Given the description of an element on the screen output the (x, y) to click on. 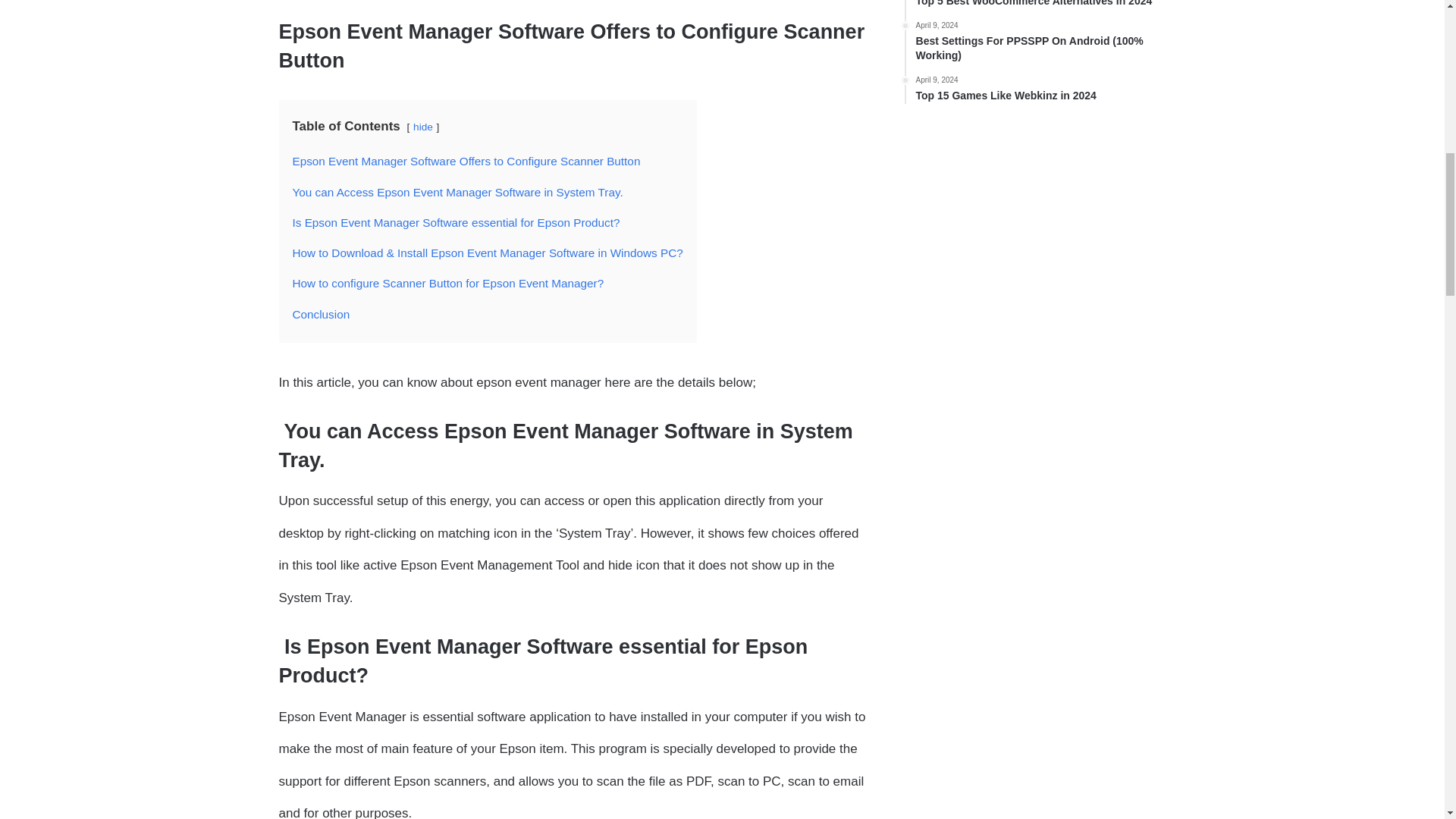
How to configure Scanner Button for Epson Event Manager? (448, 282)
You can Access Epson Event Manager Software in System Tray. (457, 192)
Is Epson Event Manager Software essential for Epson Product? (456, 222)
Conclusion (321, 314)
hide (422, 126)
